Given the description of an element on the screen output the (x, y) to click on. 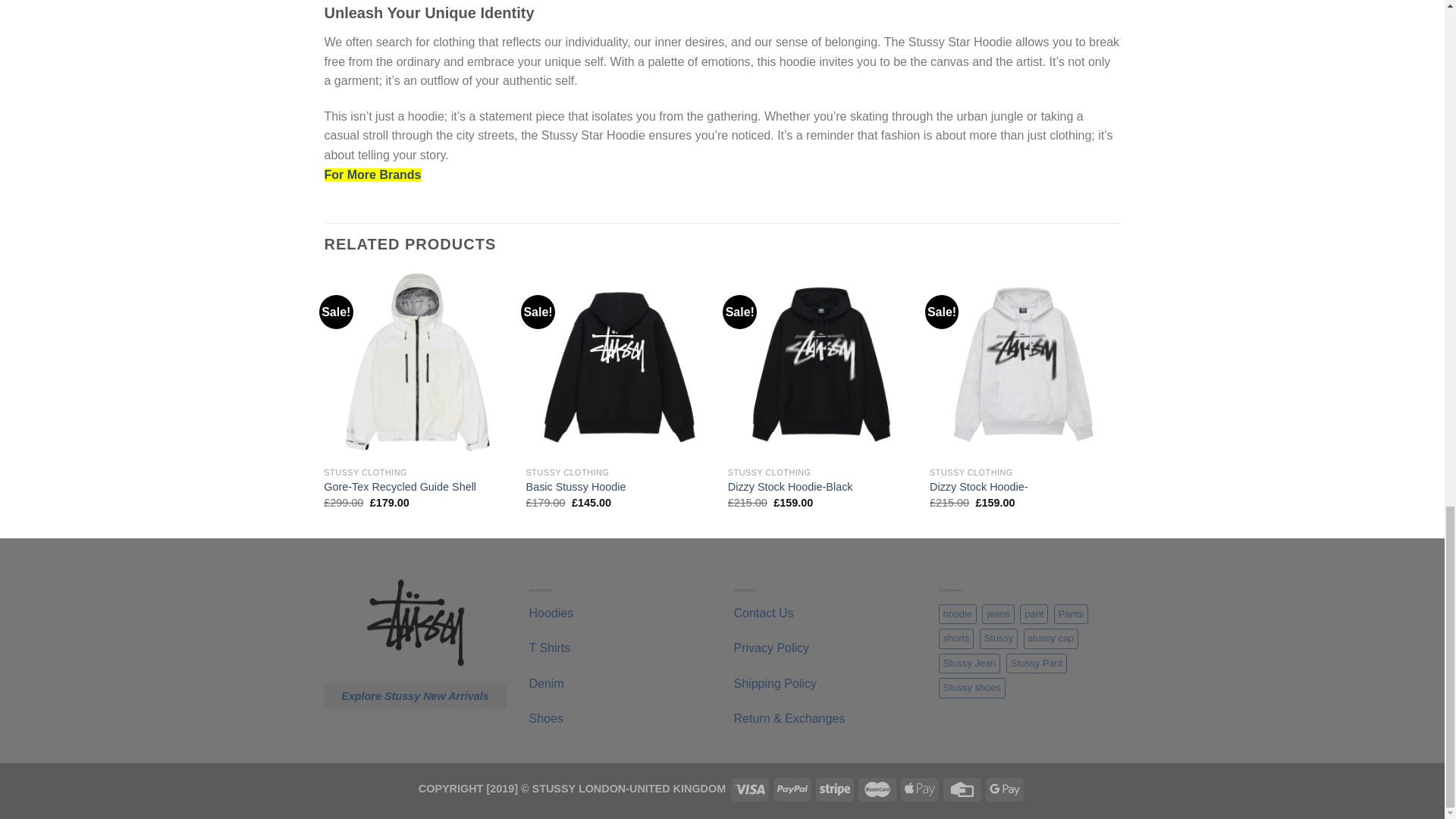
Logo-Stussy (415, 622)
